Given the description of an element on the screen output the (x, y) to click on. 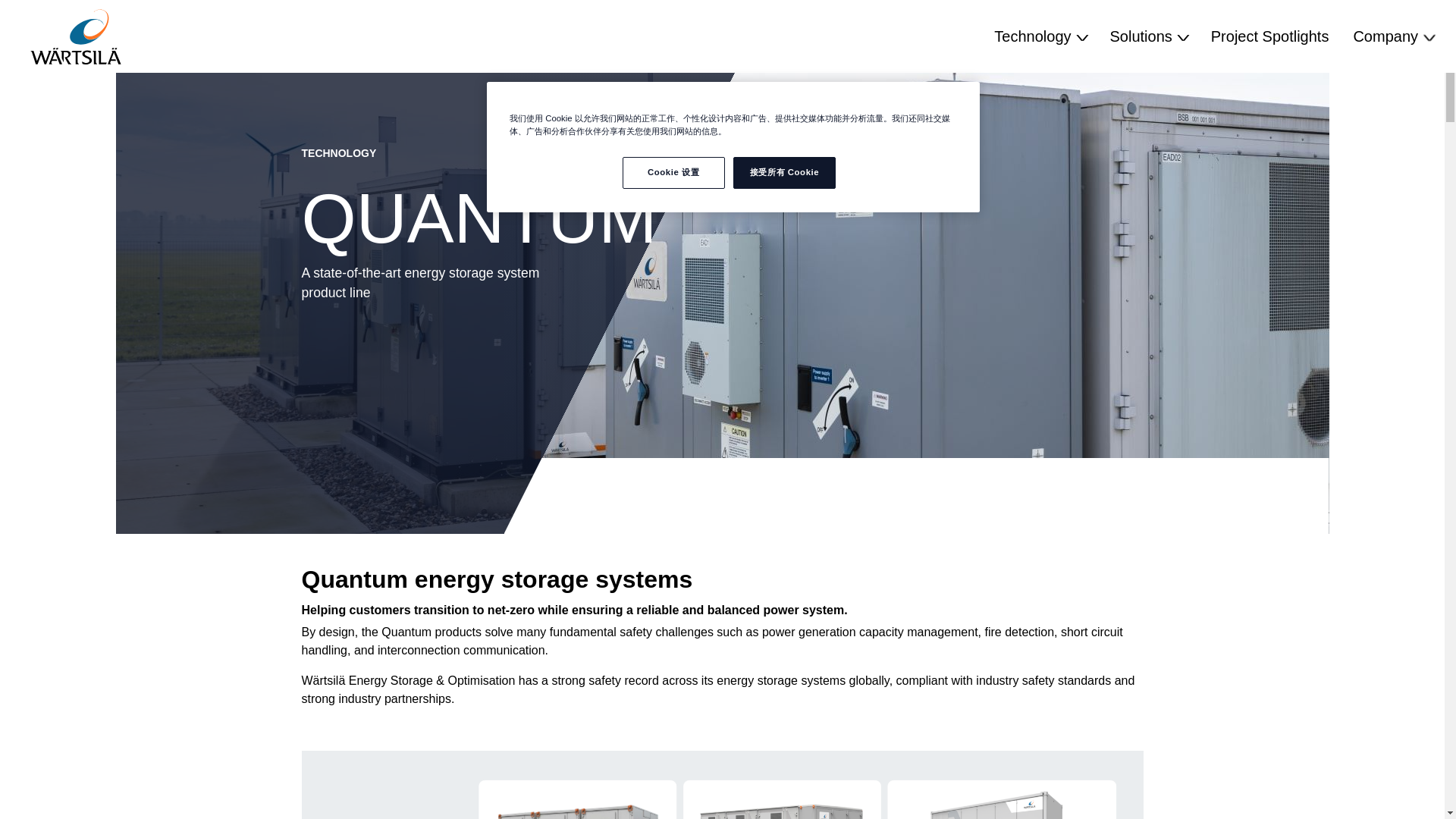
Project Spotlights (1270, 36)
Solutions (1147, 36)
Company (1392, 36)
Technology (1039, 36)
